Given the description of an element on the screen output the (x, y) to click on. 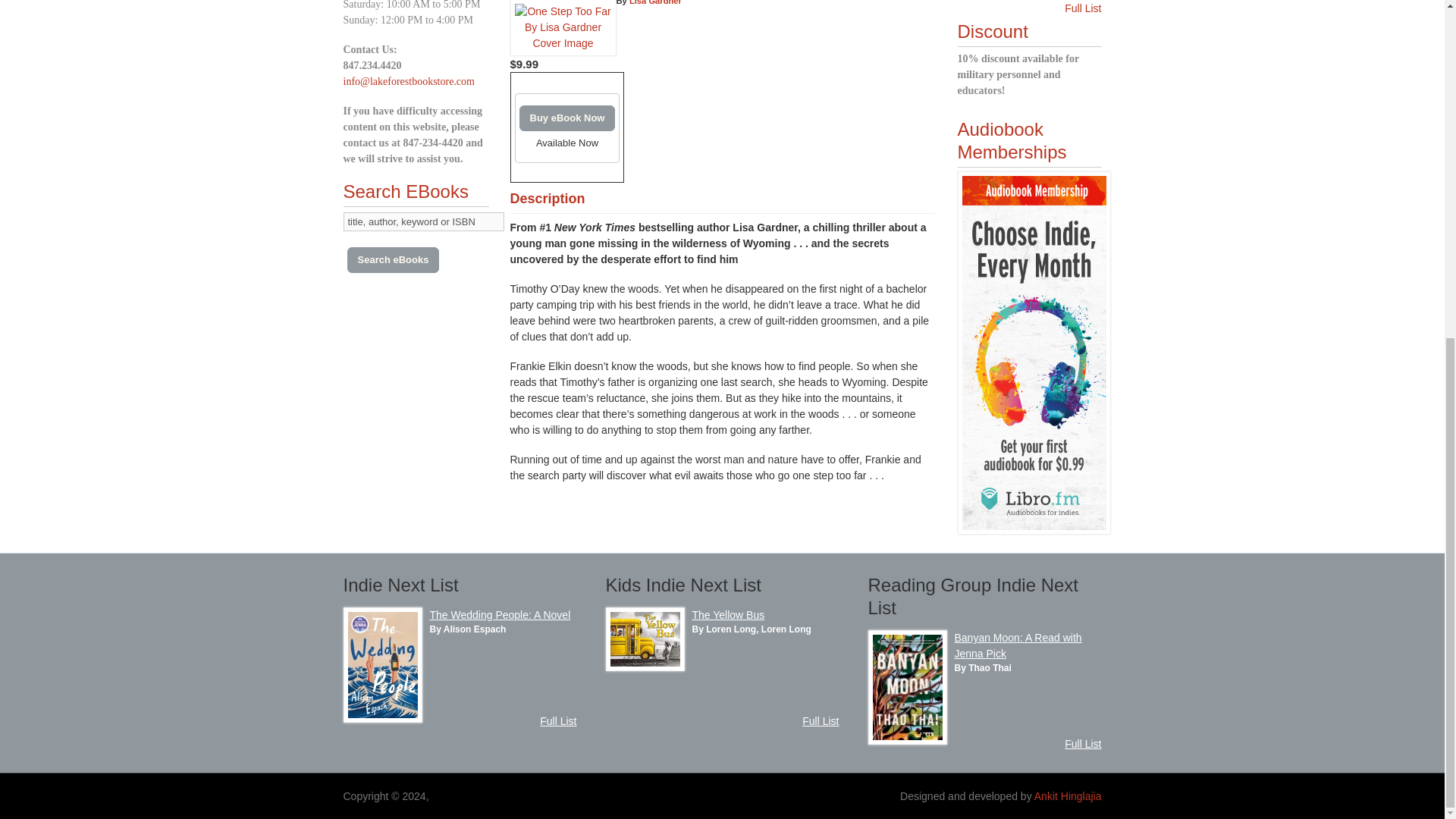
title, author, keyword or ISBN (422, 221)
The Wedding People: A Novel - by Alison Espach (499, 614)
The Wedding People: A Novel - by Alison Espach (382, 718)
Search eBooks (393, 259)
The Yellow Bus - by Loren Long, Loren Long (644, 666)
Lisa Gardner (654, 2)
Buy eBook Now (566, 118)
Buy eBook Now (566, 118)
Enter title, author, keyword or ISBN. (422, 221)
